Given the description of an element on the screen output the (x, y) to click on. 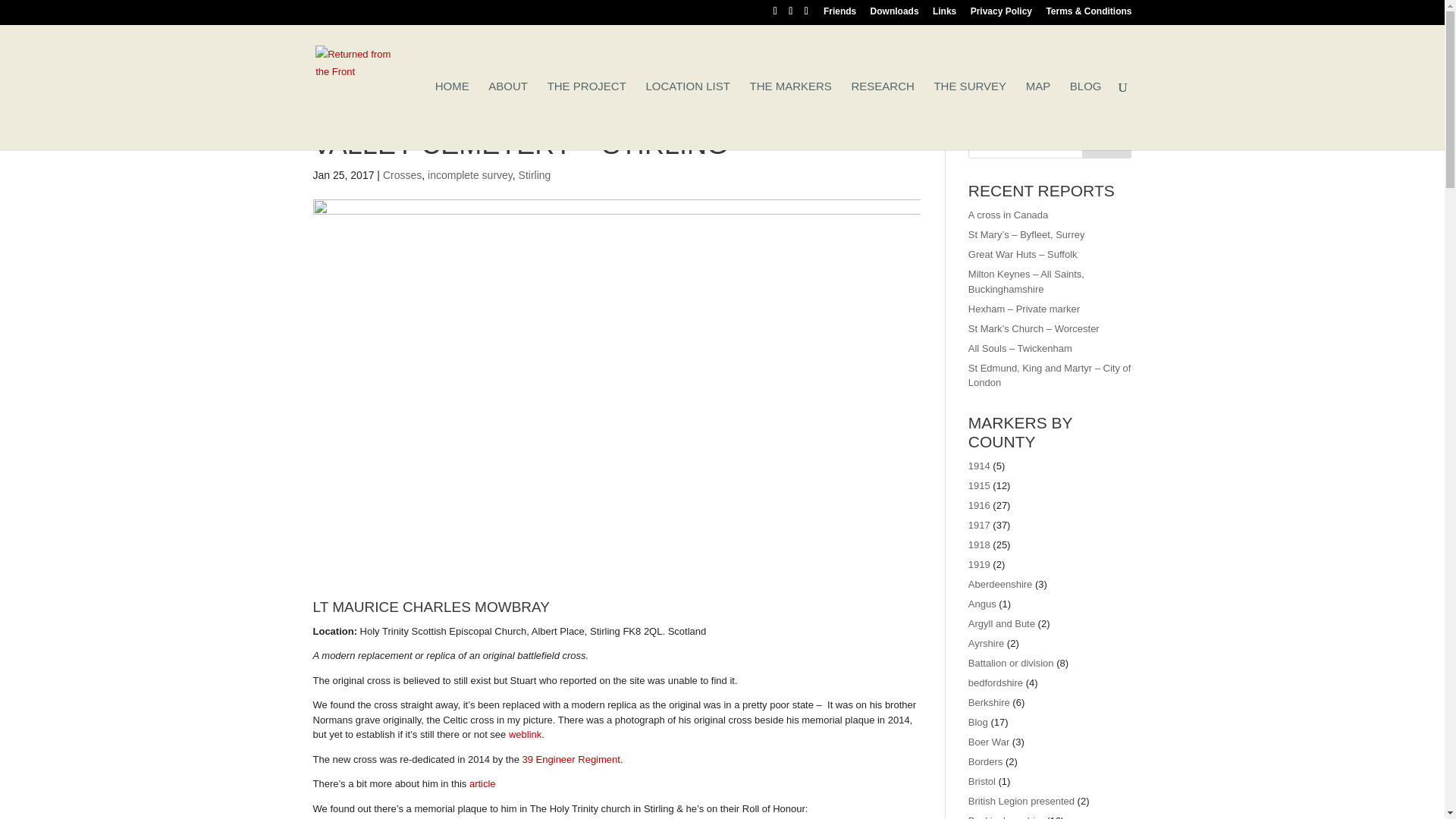
Friends (840, 14)
39 Engineer Regiment. (572, 758)
Crosses (402, 174)
BLOG (1086, 115)
THE SURVEY (969, 115)
A cross in Canada (1008, 214)
HOME (451, 115)
Downloads (894, 14)
RESEARCH (882, 115)
incomplete survey (470, 174)
Stirling (534, 174)
weblink (524, 734)
THE PROJECT (586, 115)
MAP (1038, 115)
Search (1106, 142)
